Given the description of an element on the screen output the (x, y) to click on. 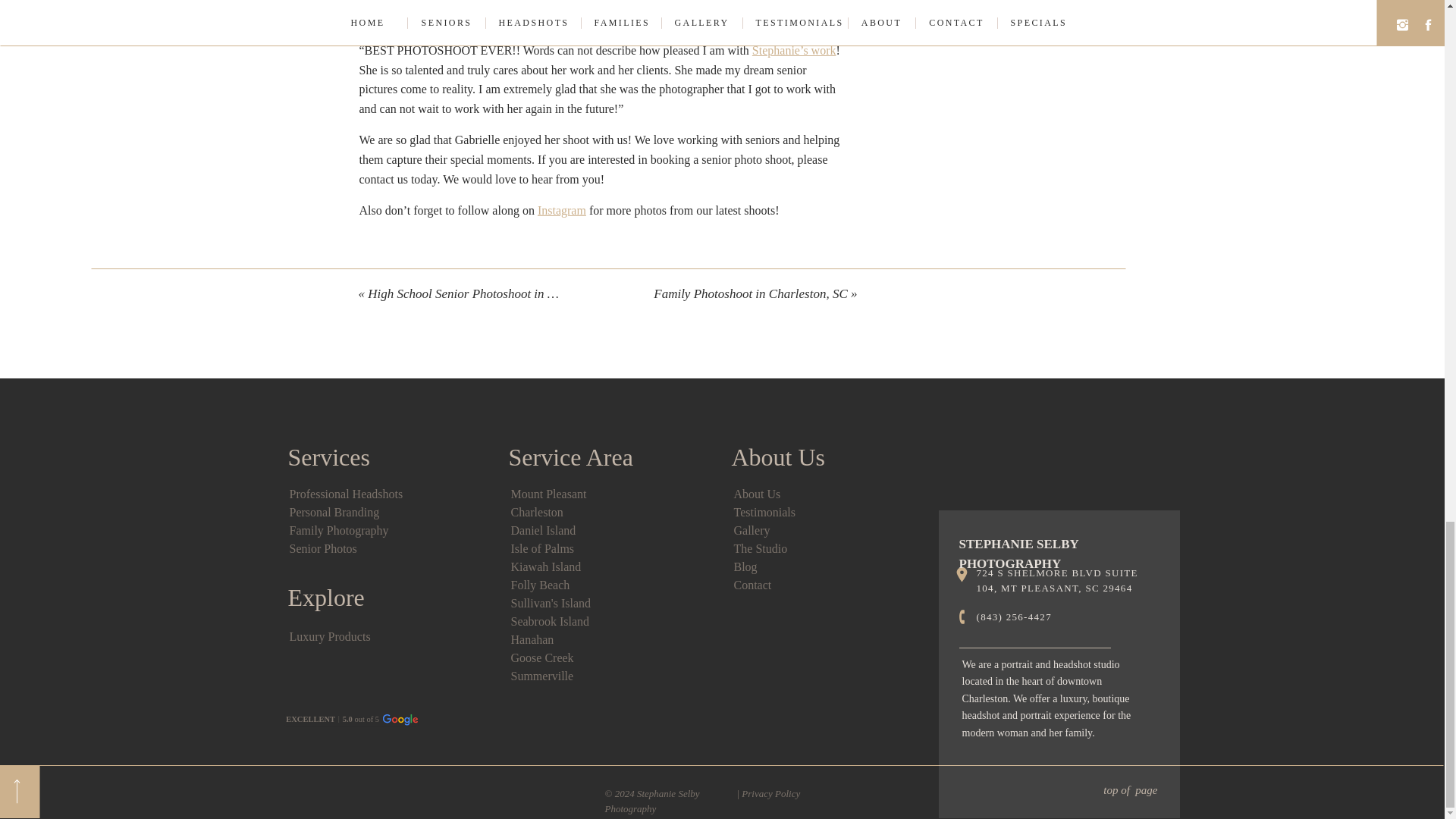
EXCELLENT5.0 out of 5 (372, 722)
Blog (745, 566)
STEPHANIE SELBY PHOTOGRAPHY (1057, 545)
Family Photoshoot in Charleston, SC (750, 293)
724 S SHELMORE BLVD SUITE 104, MT PLEASANT, SC 29464 (1066, 581)
Instagram (561, 210)
top of  page (1054, 791)
High School Senior Photoshoot in Charleston SC (495, 293)
The Studio (760, 548)
Contact (752, 584)
